Given the description of an element on the screen output the (x, y) to click on. 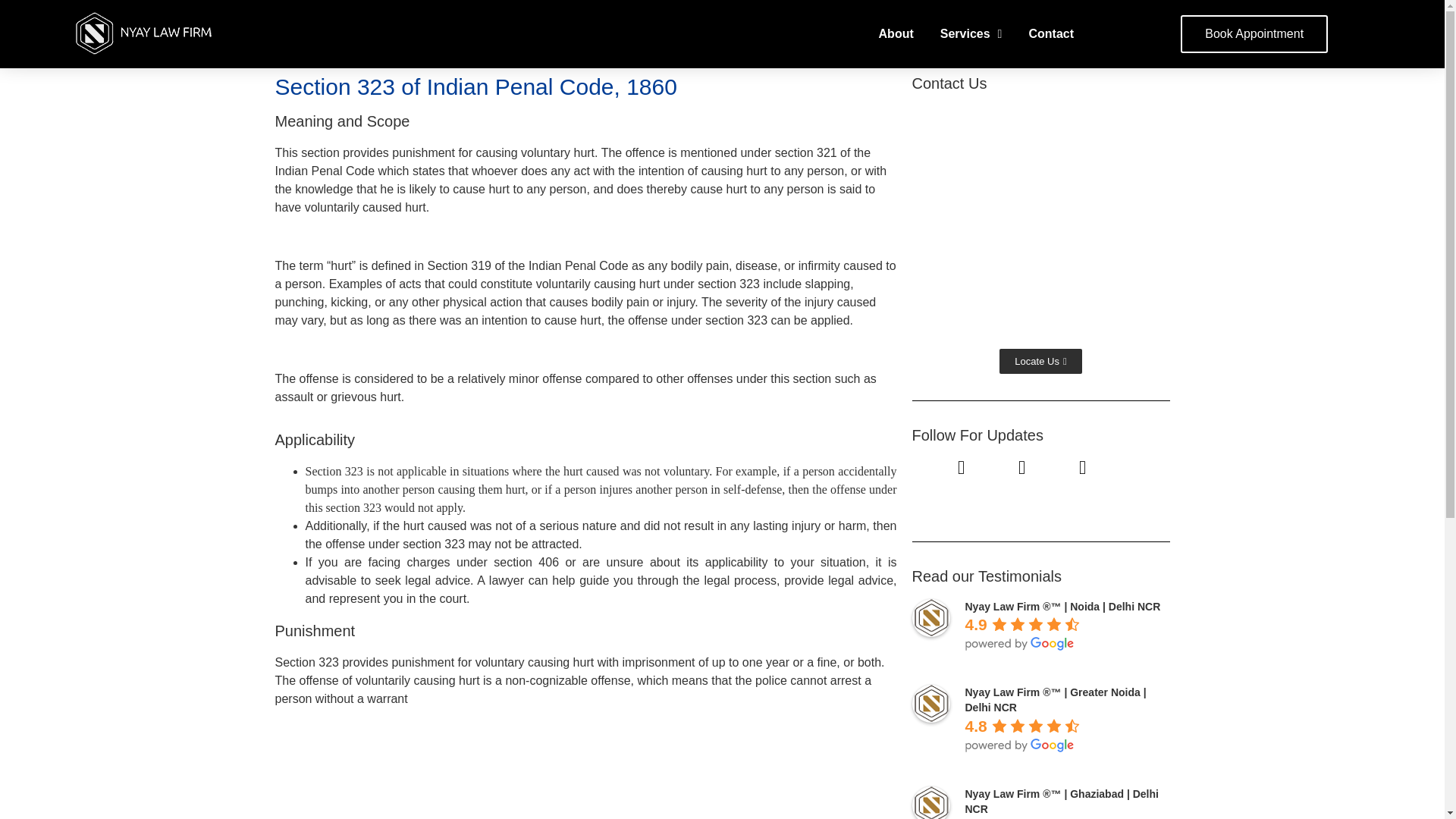
powered by Google (1018, 643)
powered by Google (1018, 745)
Services (971, 33)
Nyay Law Firm Indirapuram (1040, 219)
About (896, 33)
Contact (1050, 33)
